Given the description of an element on the screen output the (x, y) to click on. 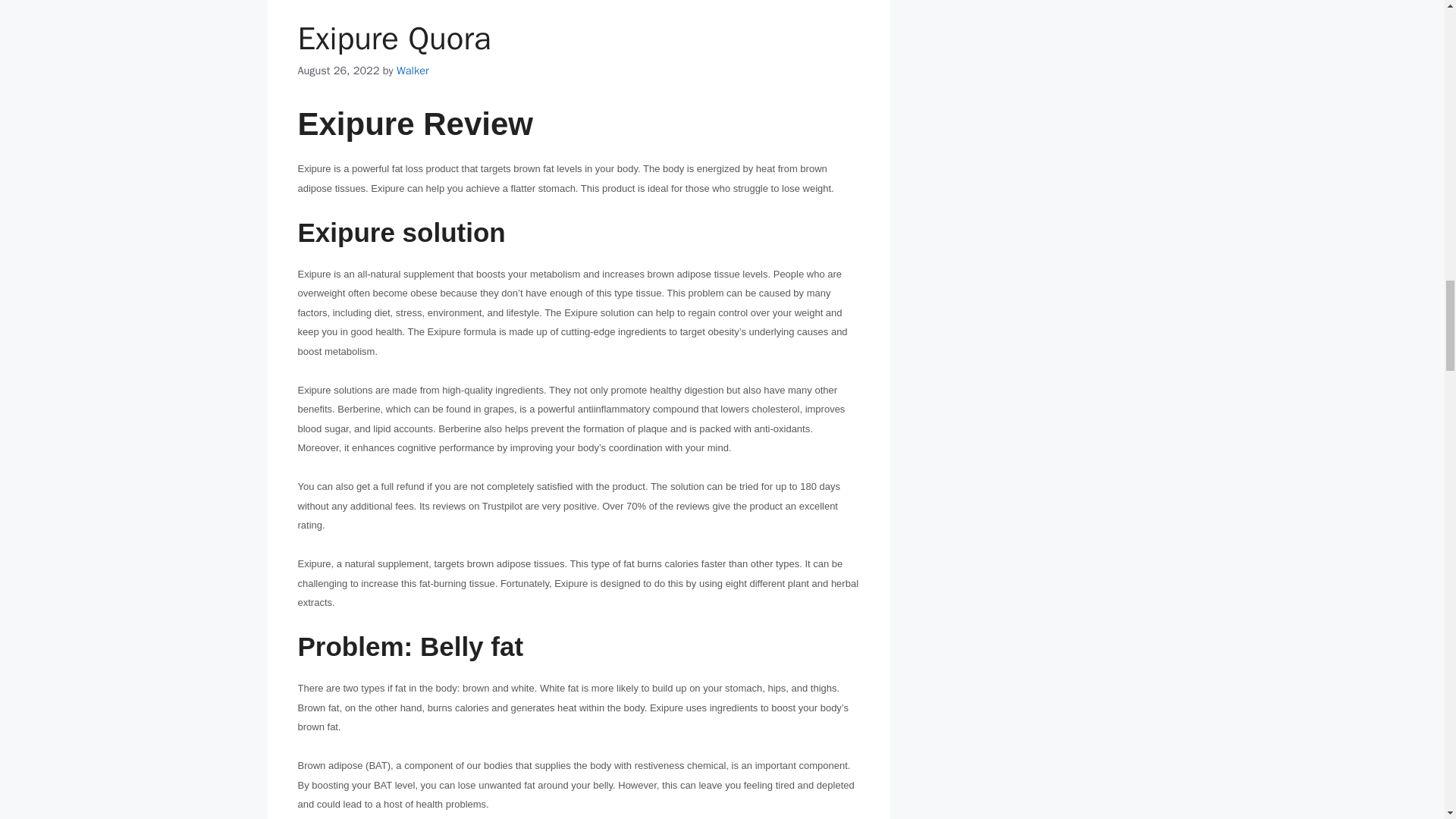
Walker (412, 69)
View all posts by Walker (412, 69)
